Given the description of an element on the screen output the (x, y) to click on. 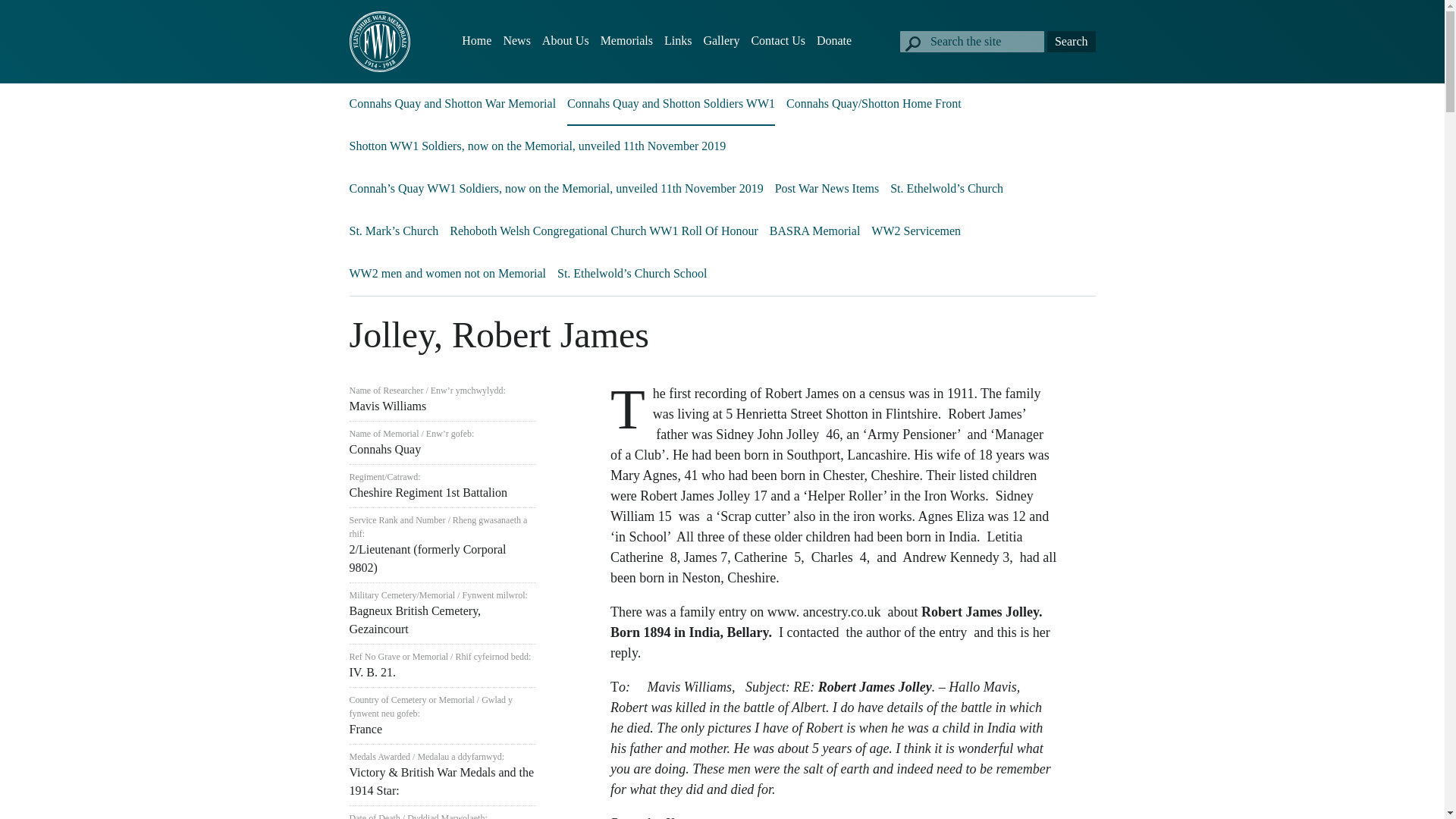
Rehoboth Welsh Congregational Church WW1 Roll Of Honour (603, 230)
WW2 men and women not on Memorial (447, 273)
Post War News Items (826, 187)
Connahs Quay and Shotton Soldiers WW1 (670, 103)
Contact Us (778, 41)
BASRA Memorial (815, 230)
Donate (833, 41)
News (515, 41)
Memorials (625, 41)
About Us (565, 41)
WW2 Servicemen (915, 230)
Home (476, 41)
Links (677, 41)
Gallery (721, 41)
